Given the description of an element on the screen output the (x, y) to click on. 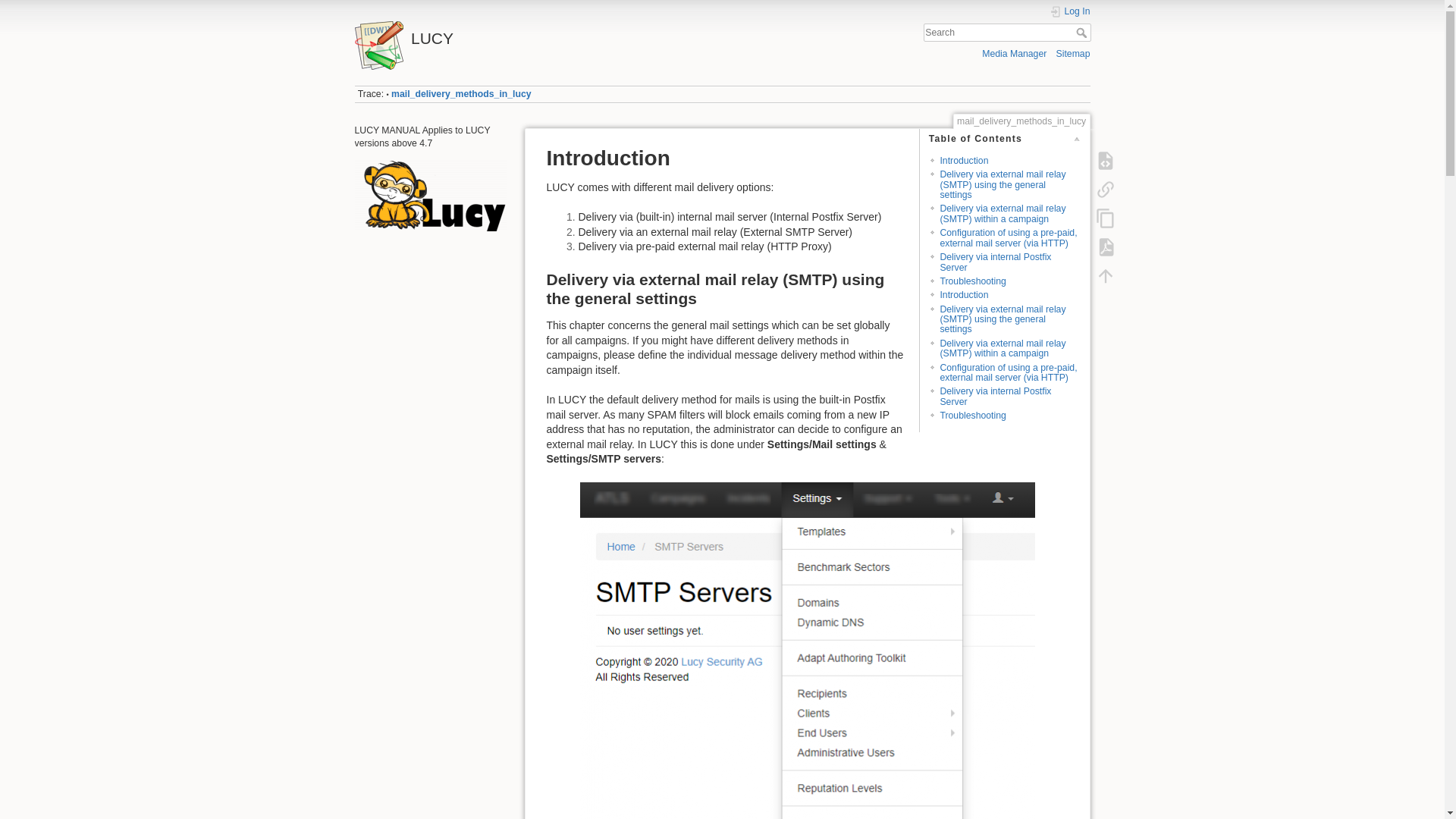
Troubleshooting (972, 415)
Sitemap (1073, 53)
Media Manager (1013, 53)
Delivery via internal Postfix Server (995, 395)
Introduction (963, 160)
Log In (1069, 11)
Troubleshooting (972, 281)
Log In (1069, 11)
Search (1082, 32)
Search (1082, 32)
Introduction (963, 294)
Media Manager (1013, 53)
Delivery via internal Postfix Server (995, 261)
LUCY (534, 34)
